Given the description of an element on the screen output the (x, y) to click on. 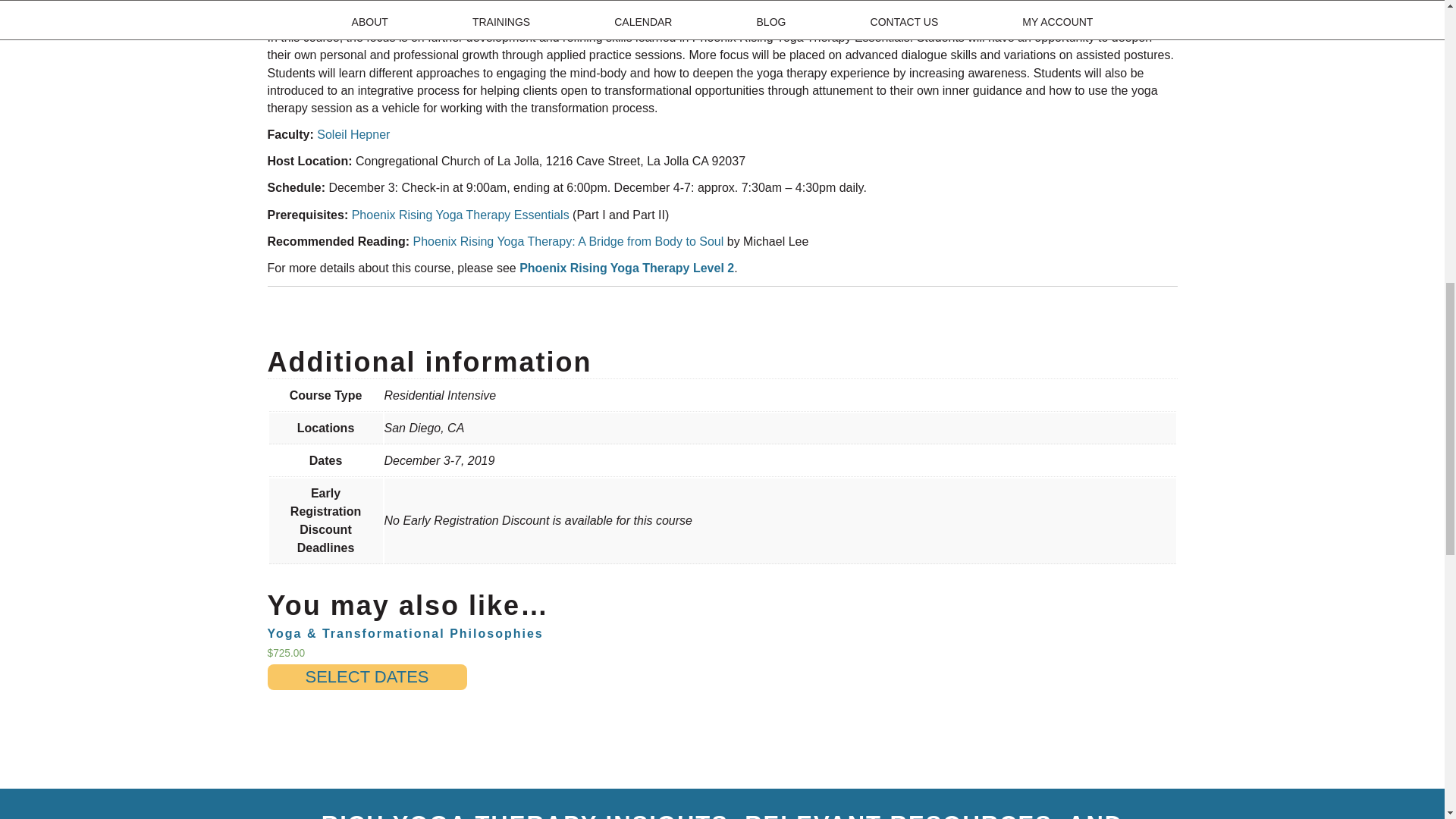
Phoenix Rising Yoga Therapy Level 2 (626, 267)
Description (321, 4)
Soleil Hepner (353, 133)
Additional information (438, 4)
SELECT DATES (365, 677)
Phoenix Rising Yoga Therapy Essentials (460, 214)
Phoenix Rising Yoga Therapy: A Bridge from Body to Soul (568, 241)
